Given the description of an element on the screen output the (x, y) to click on. 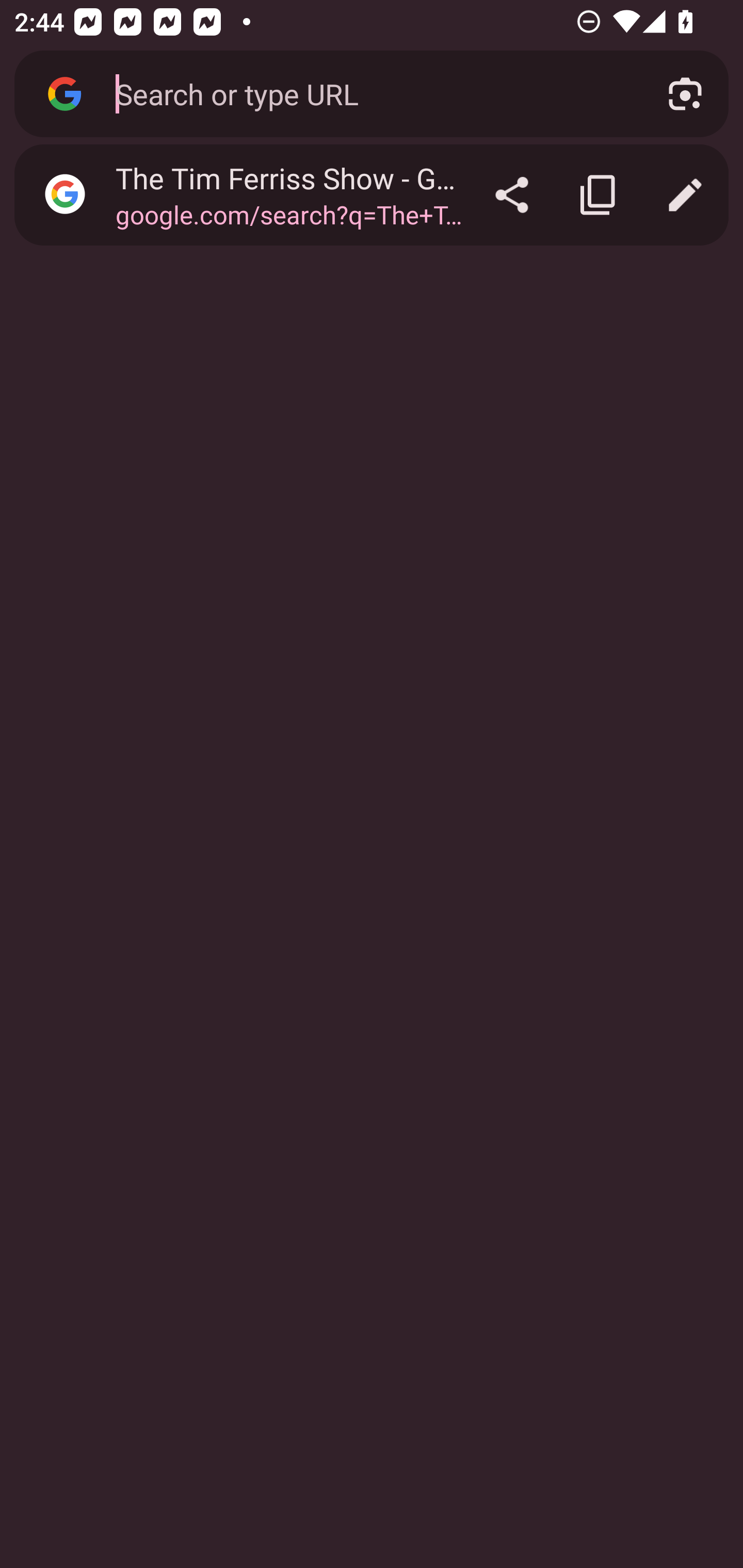
Search with your camera using Google Lens (684, 93)
Search or type URL (367, 92)
Share… (511, 195)
Copy link (598, 195)
Edit (684, 195)
